Given the description of an element on the screen output the (x, y) to click on. 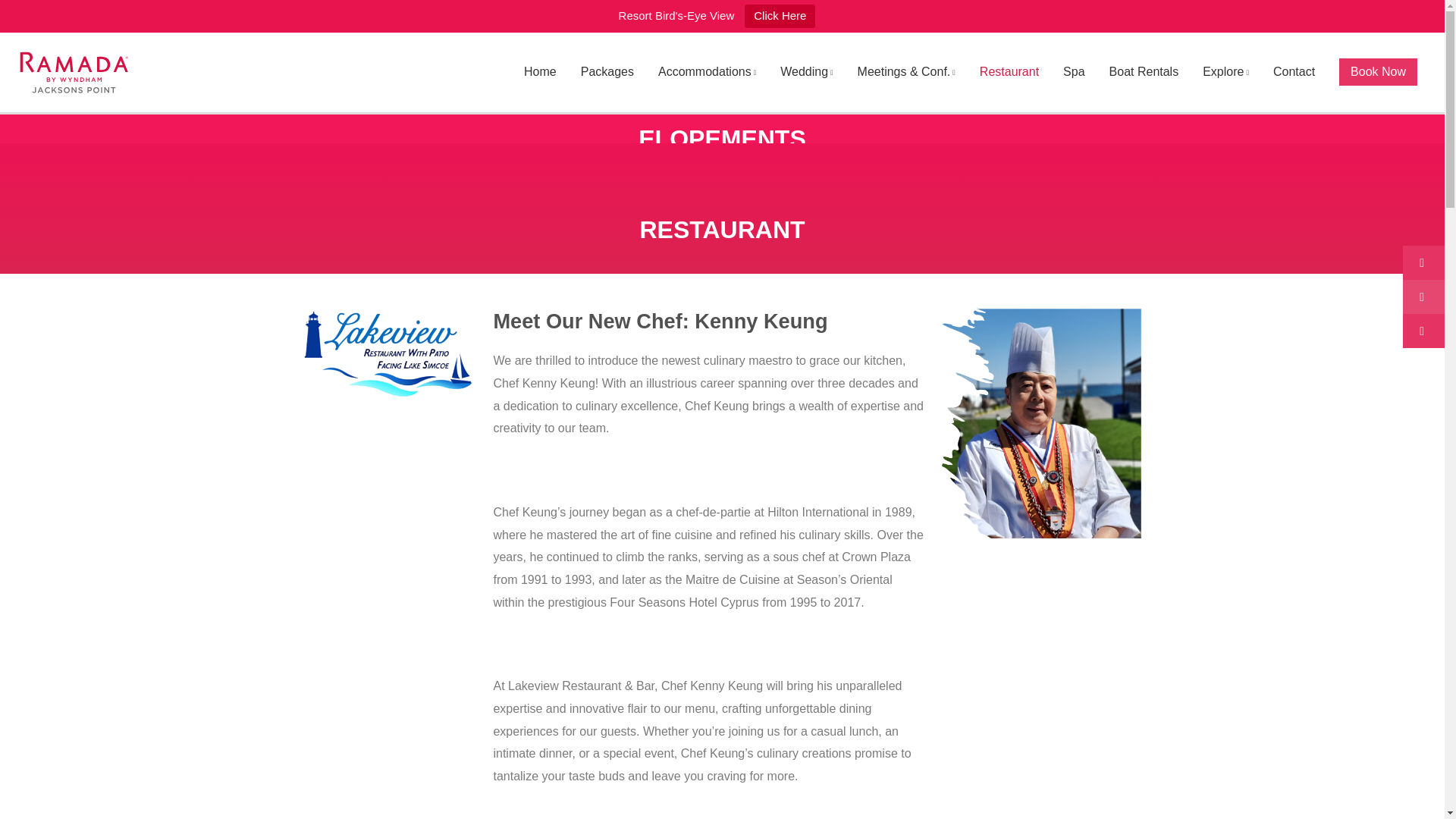
Packages (607, 72)
Boat Rentals (1144, 72)
Restaurant (1009, 72)
Wedding (806, 72)
Accommodations (707, 72)
Click Here (779, 15)
